Given the description of an element on the screen output the (x, y) to click on. 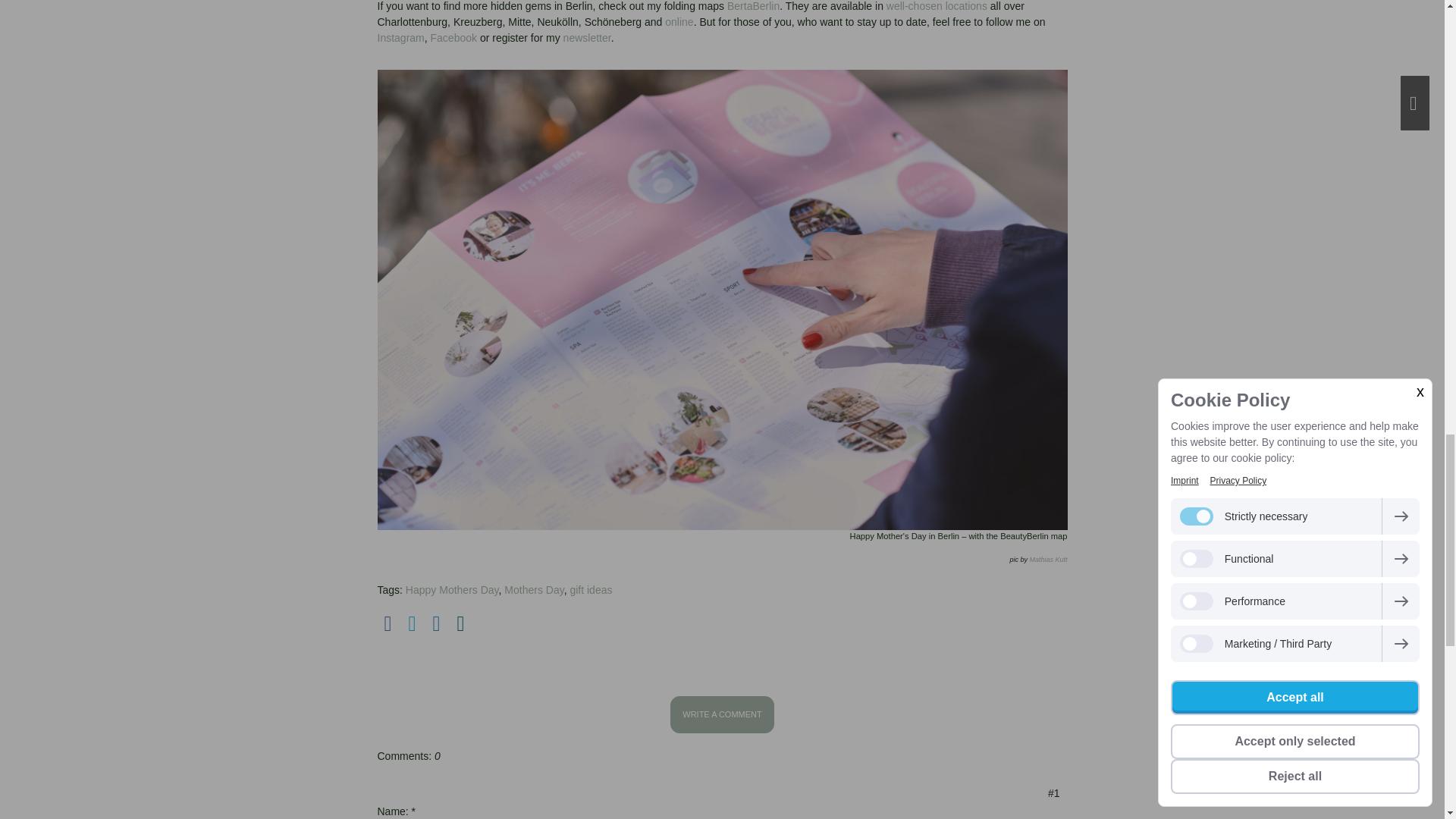
Photographer Mathias Kutt (1048, 559)
Get all the Berlin insides here (587, 37)
More info (752, 6)
Facebook (387, 623)
Follow BertaBerlin (401, 37)
LinkedIn (436, 623)
Shop here (679, 21)
Keep uptodate (453, 37)
Twitter (412, 623)
Xing (460, 623)
Where to buy (936, 6)
